Given the description of an element on the screen output the (x, y) to click on. 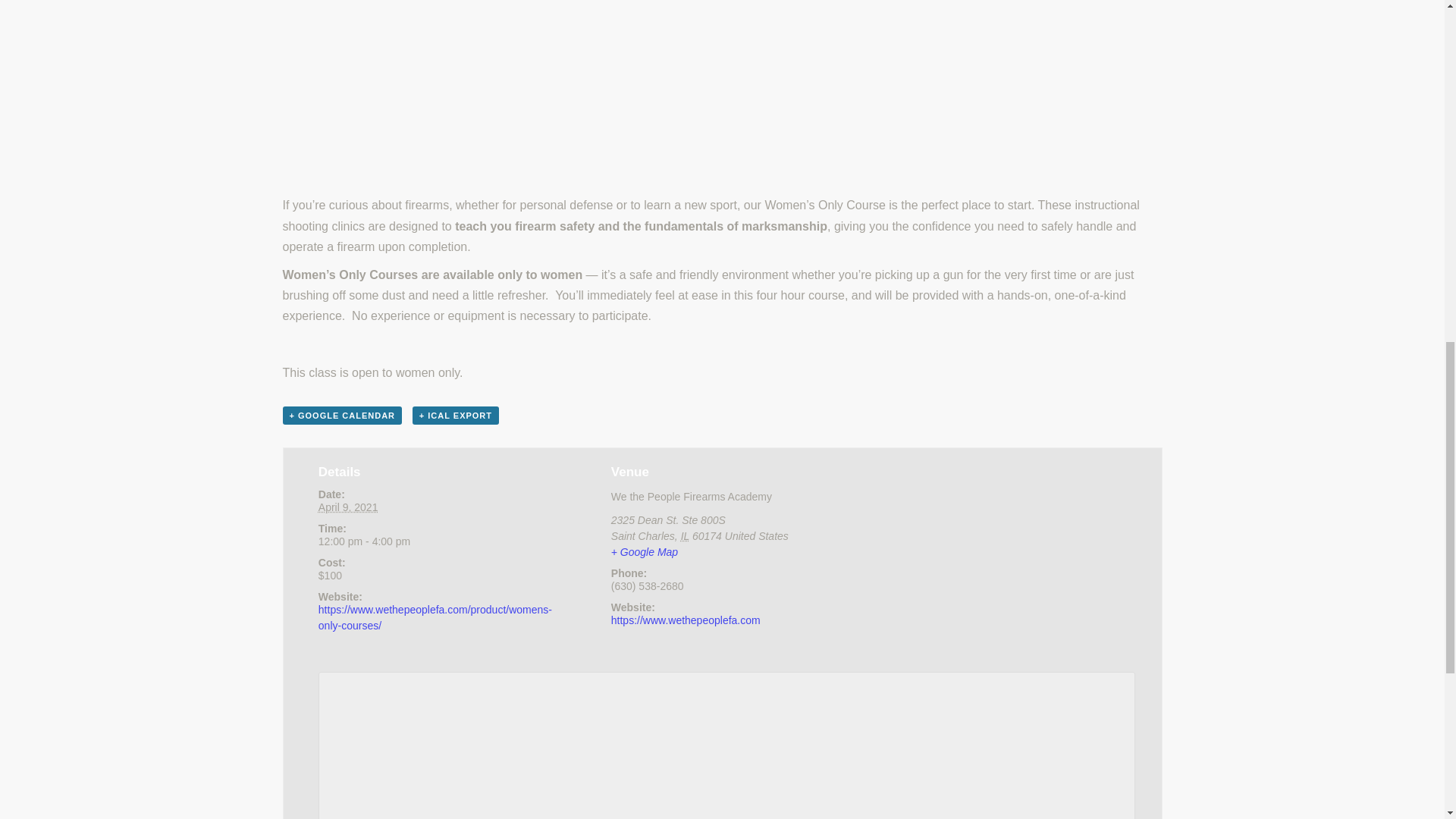
2021-04-09 (429, 541)
Click to view a Google Map (644, 551)
Add to Google Calendar (341, 415)
Download .ics file (455, 415)
2021-04-09 (348, 507)
